Given the description of an element on the screen output the (x, y) to click on. 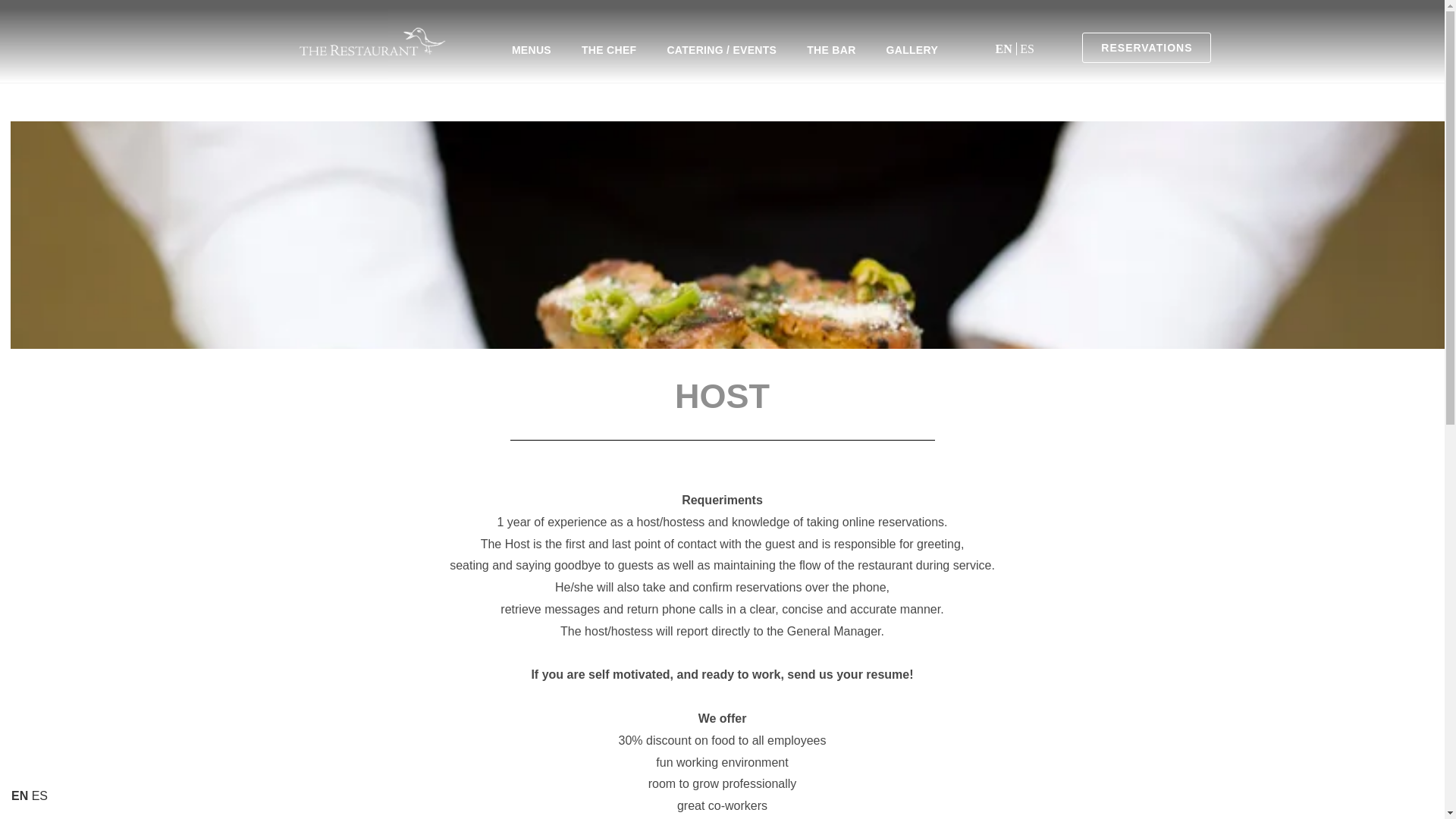
English (1005, 48)
English (19, 795)
ES (1026, 48)
Spanish (40, 795)
EN (1005, 48)
MENUS (531, 49)
GALLERY (911, 49)
THE BAR (831, 49)
THE CHEF (608, 49)
RESERVATIONS (1146, 47)
